Given the description of an element on the screen output the (x, y) to click on. 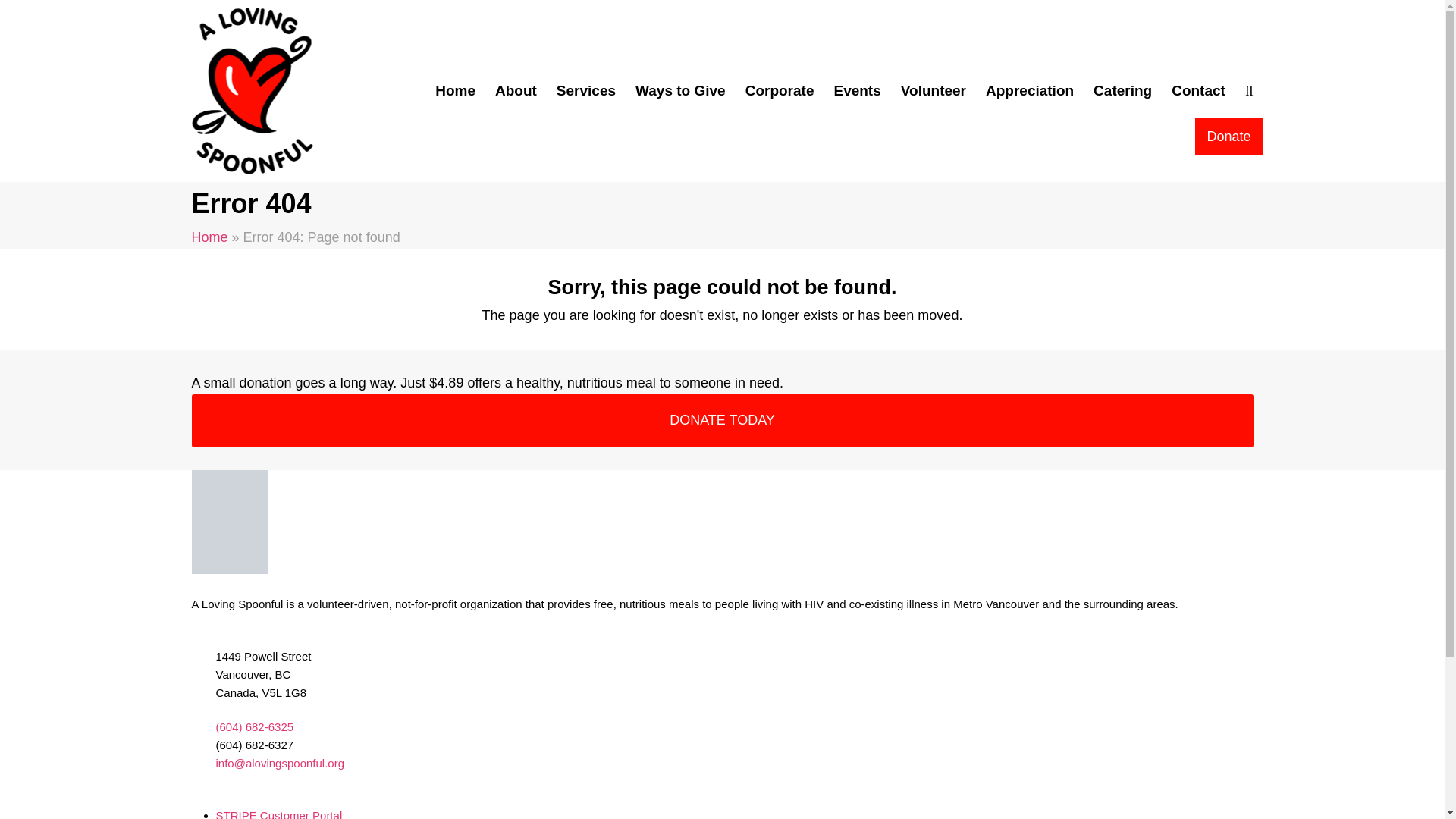
info@alovingspoonful.org Element type: text (279, 762)
Corporate Element type: text (779, 90)
Catering Element type: text (1122, 90)
Home Element type: text (455, 90)
Donate Element type: text (1228, 136)
Services Element type: text (585, 90)
(604) 682-6325 Element type: text (254, 726)
Contact Element type: text (1198, 90)
Ways to Give Element type: text (680, 90)
DONATE TODAY Element type: text (721, 420)
Appreciation Element type: text (1029, 90)
Home Element type: text (209, 236)
Events Element type: text (856, 90)
Volunteer Element type: text (933, 90)
About Element type: text (515, 90)
